Given the description of an element on the screen output the (x, y) to click on. 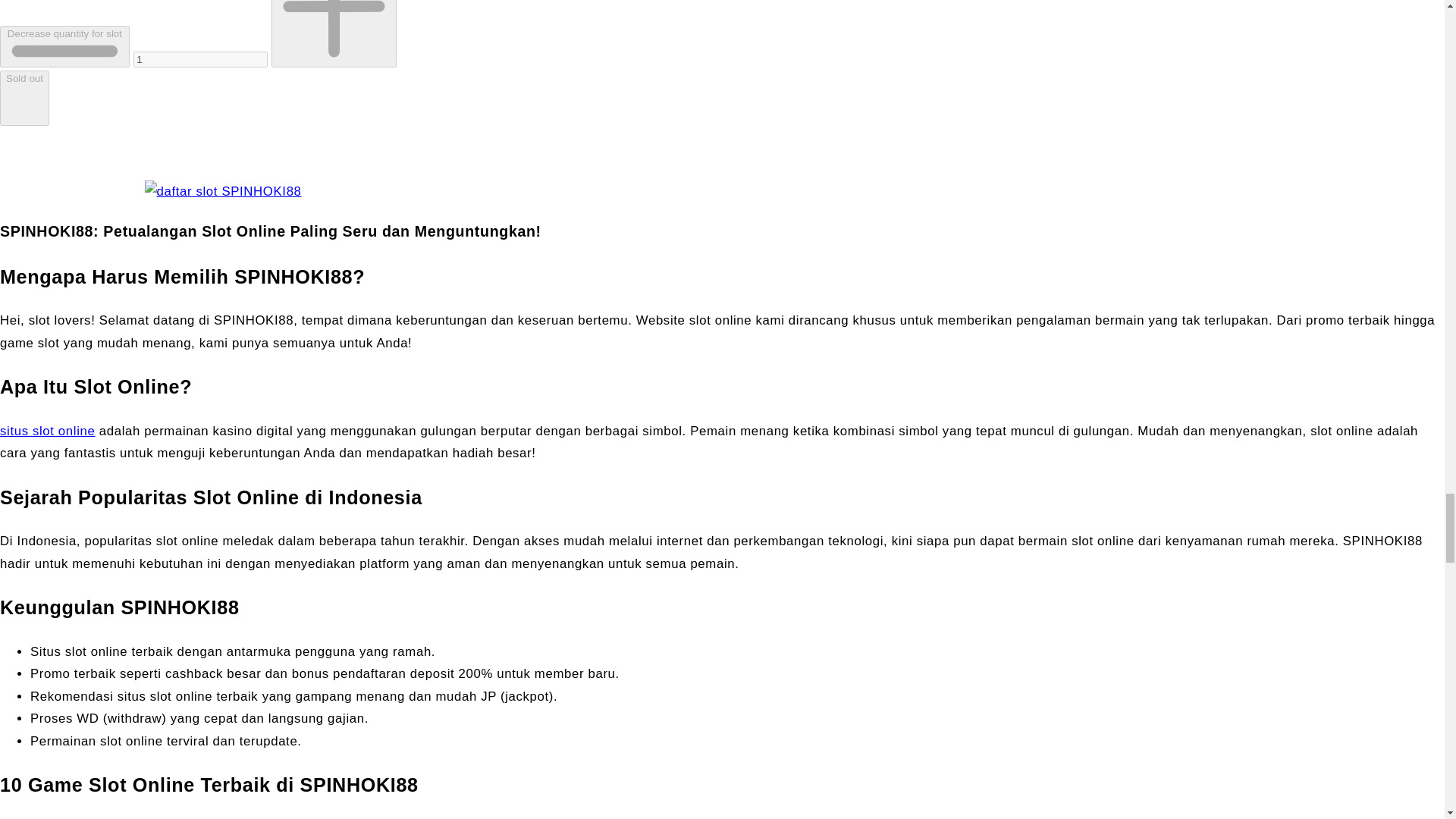
Sold out (24, 98)
1 (200, 59)
situs slot online (47, 431)
Increase quantity for slot (333, 33)
Decrease quantity for slot (64, 46)
